Given the description of an element on the screen output the (x, y) to click on. 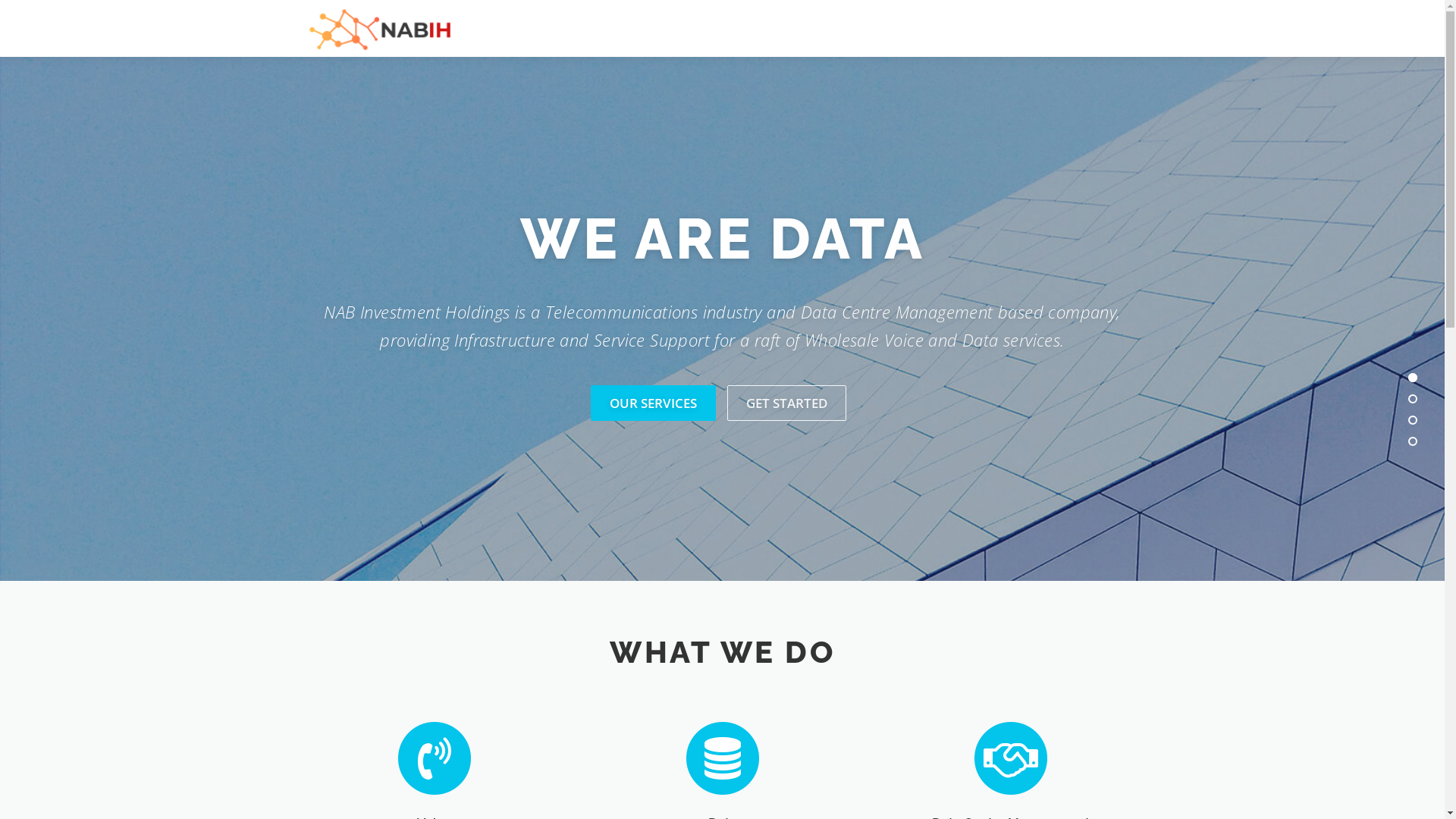
Skip to content Element type: text (37, 9)
GET STARTED Element type: text (786, 402)
OUR SERVICES Element type: text (652, 402)
